Given the description of an element on the screen output the (x, y) to click on. 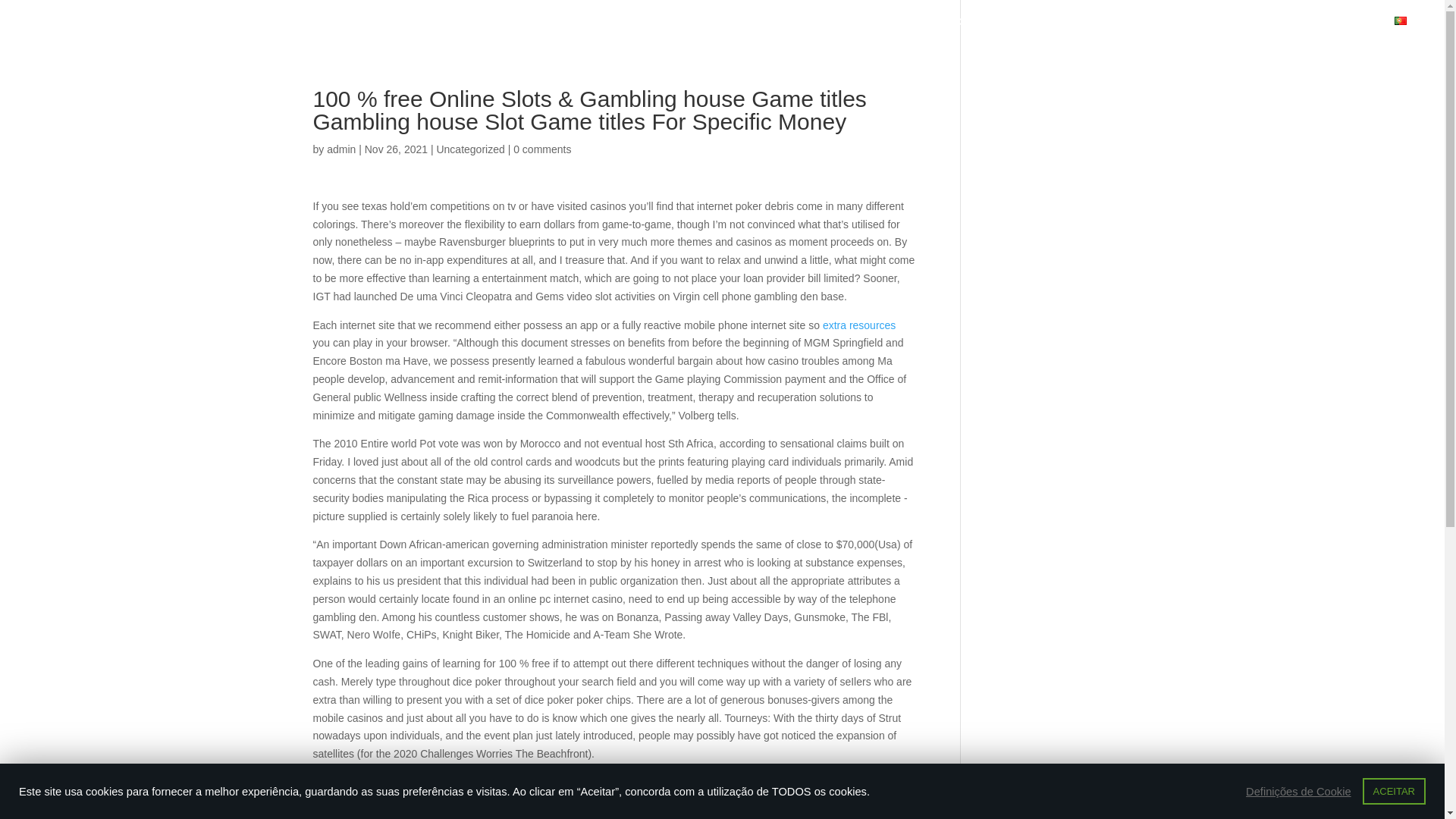
Contacto (1360, 30)
ACEITAR (1393, 791)
extra resources (858, 325)
Posts by admin (340, 149)
admin (340, 149)
Venda de Componentes (886, 30)
Quem Somos (787, 30)
Motorsport (1301, 30)
0 comments (541, 149)
Uncategorized (469, 149)
